Given the description of an element on the screen output the (x, y) to click on. 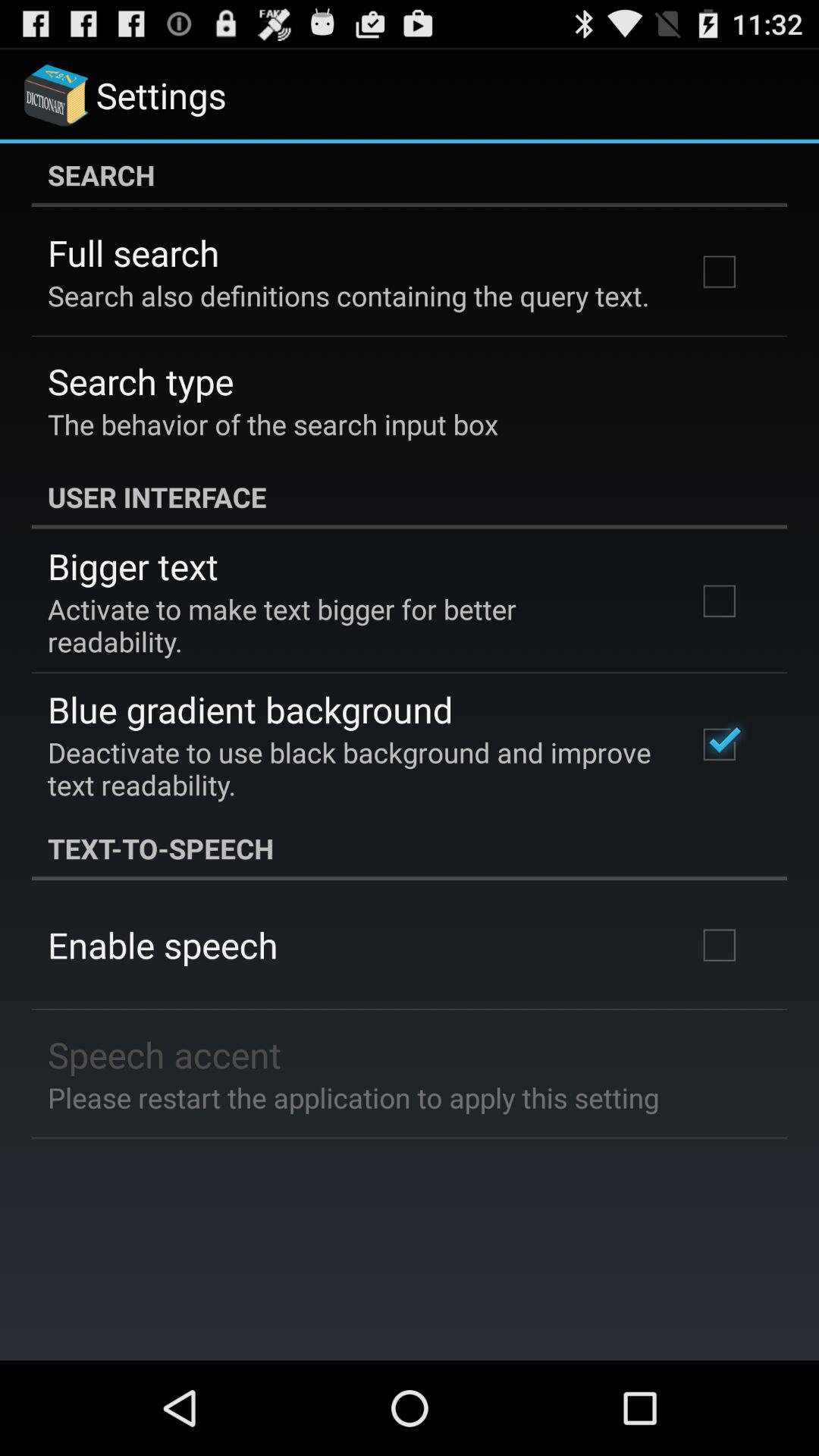
turn off blue gradient background (250, 709)
